Given the description of an element on the screen output the (x, y) to click on. 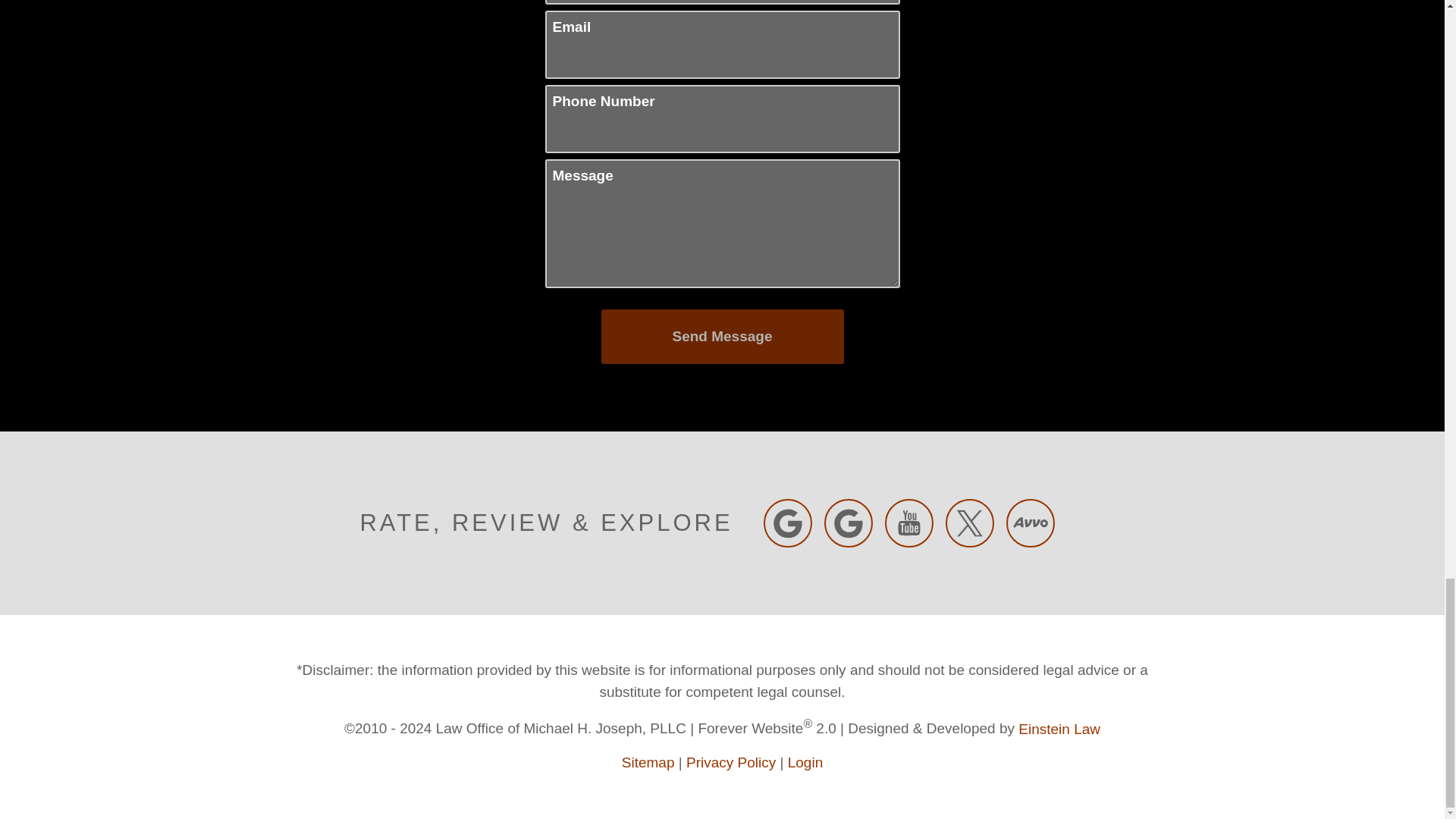
Google (787, 522)
Einstein Law (1058, 729)
Twitter (969, 522)
YouTube (909, 522)
Google (848, 522)
Avvo (1030, 522)
Send Message (721, 336)
